Given the description of an element on the screen output the (x, y) to click on. 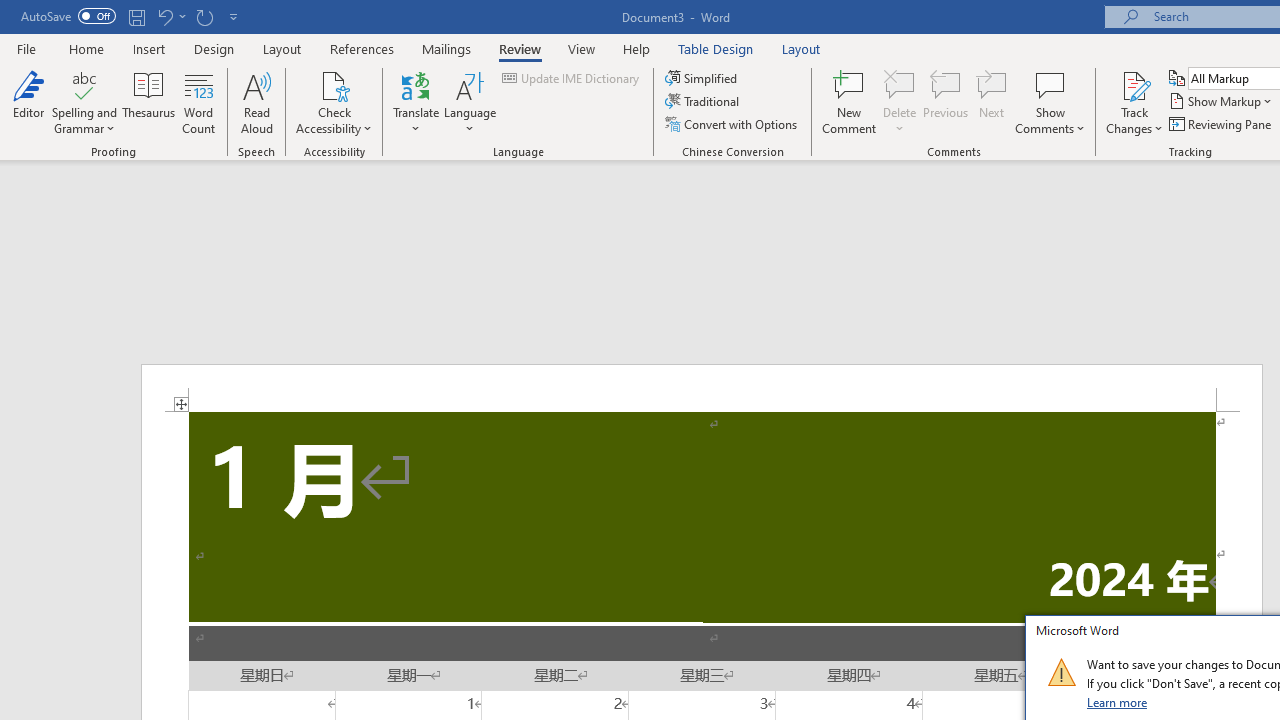
Delete (900, 84)
Convert with Options... (732, 124)
Next (991, 102)
